Given the description of an element on the screen output the (x, y) to click on. 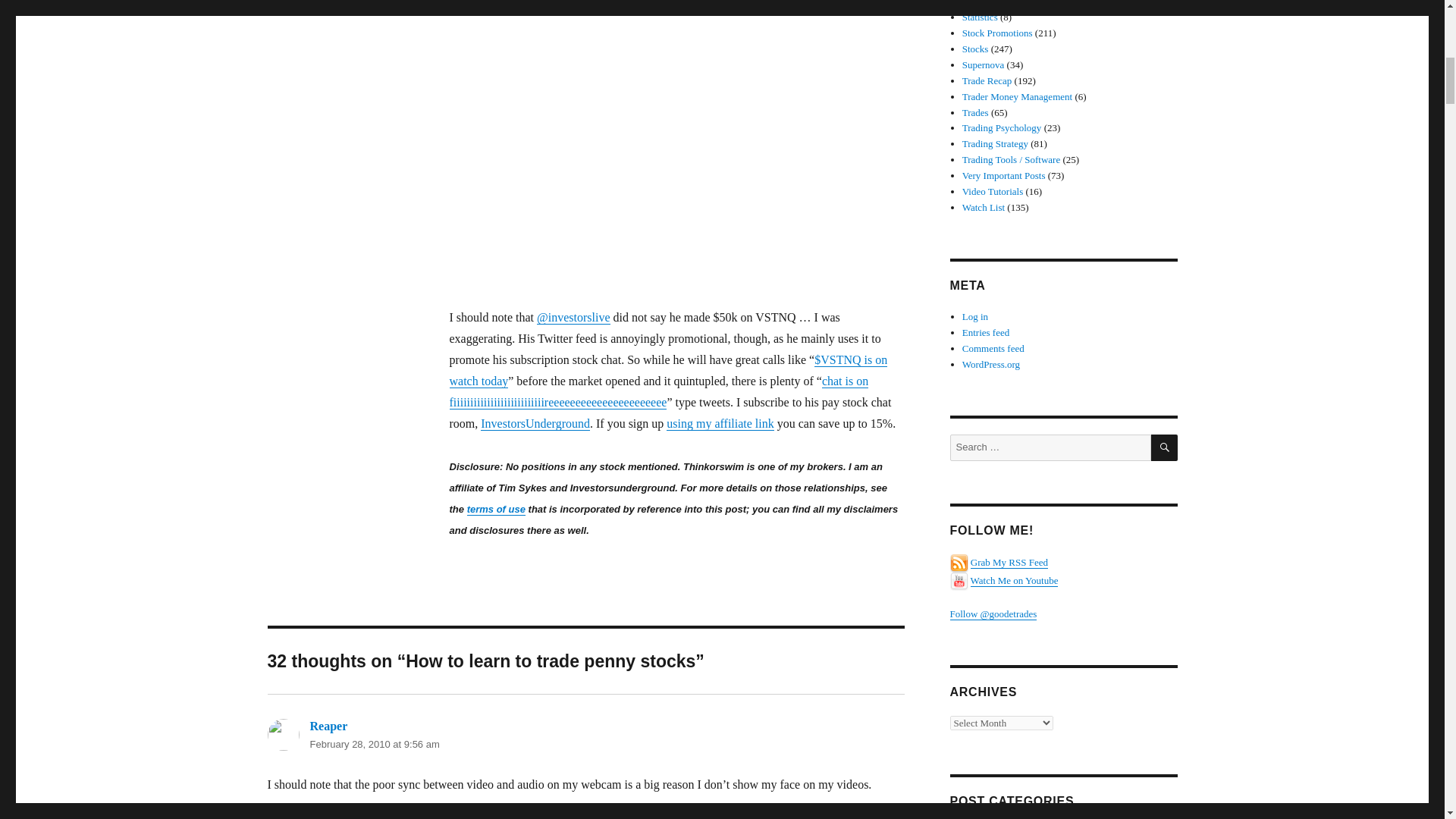
InvestorsUnderground (534, 422)
Reaper (327, 725)
using my affiliate link (719, 422)
February 28, 2010 at 9:56 am (373, 744)
terms of use (496, 509)
